Given the description of an element on the screen output the (x, y) to click on. 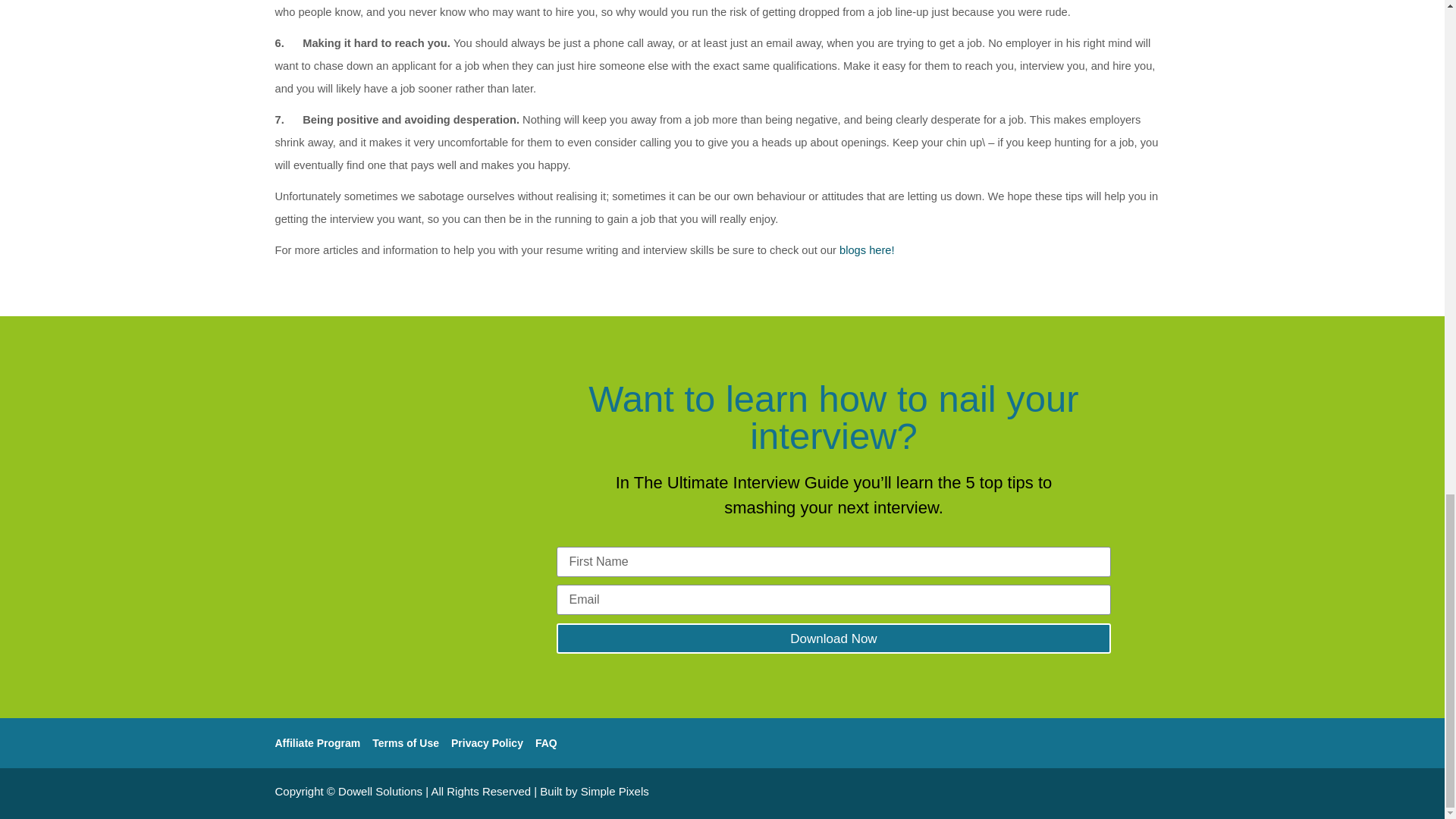
blogs here! (867, 250)
Privacy Policy (486, 742)
Terms of Use (405, 742)
Affiliate Program (317, 742)
Download Now (834, 638)
